Given the description of an element on the screen output the (x, y) to click on. 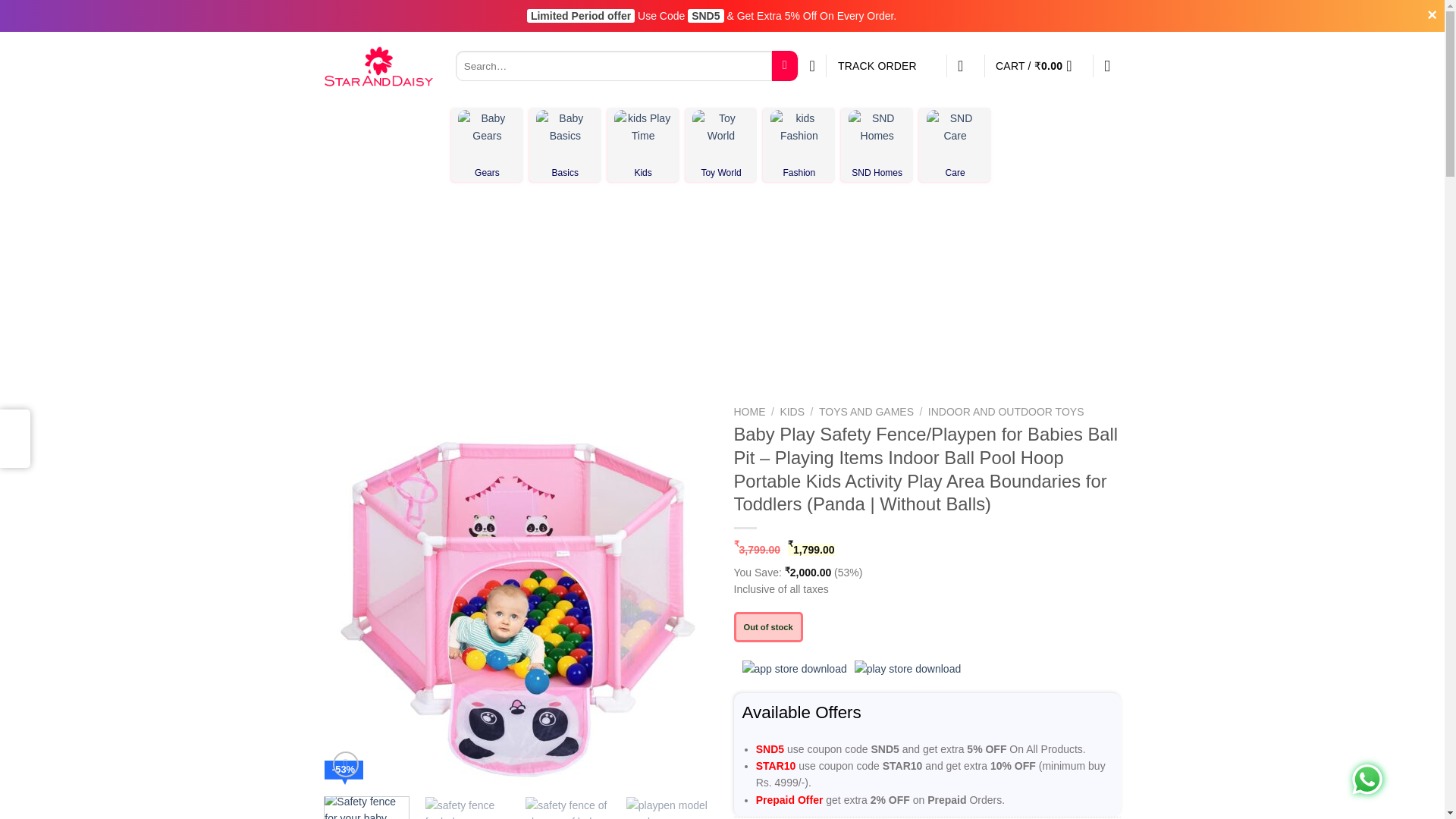
StarAndDaisy (378, 65)
Cart (1038, 65)
TRACK ORDER  (886, 65)
Zoom (345, 764)
Track Order (886, 65)
